Given the description of an element on the screen output the (x, y) to click on. 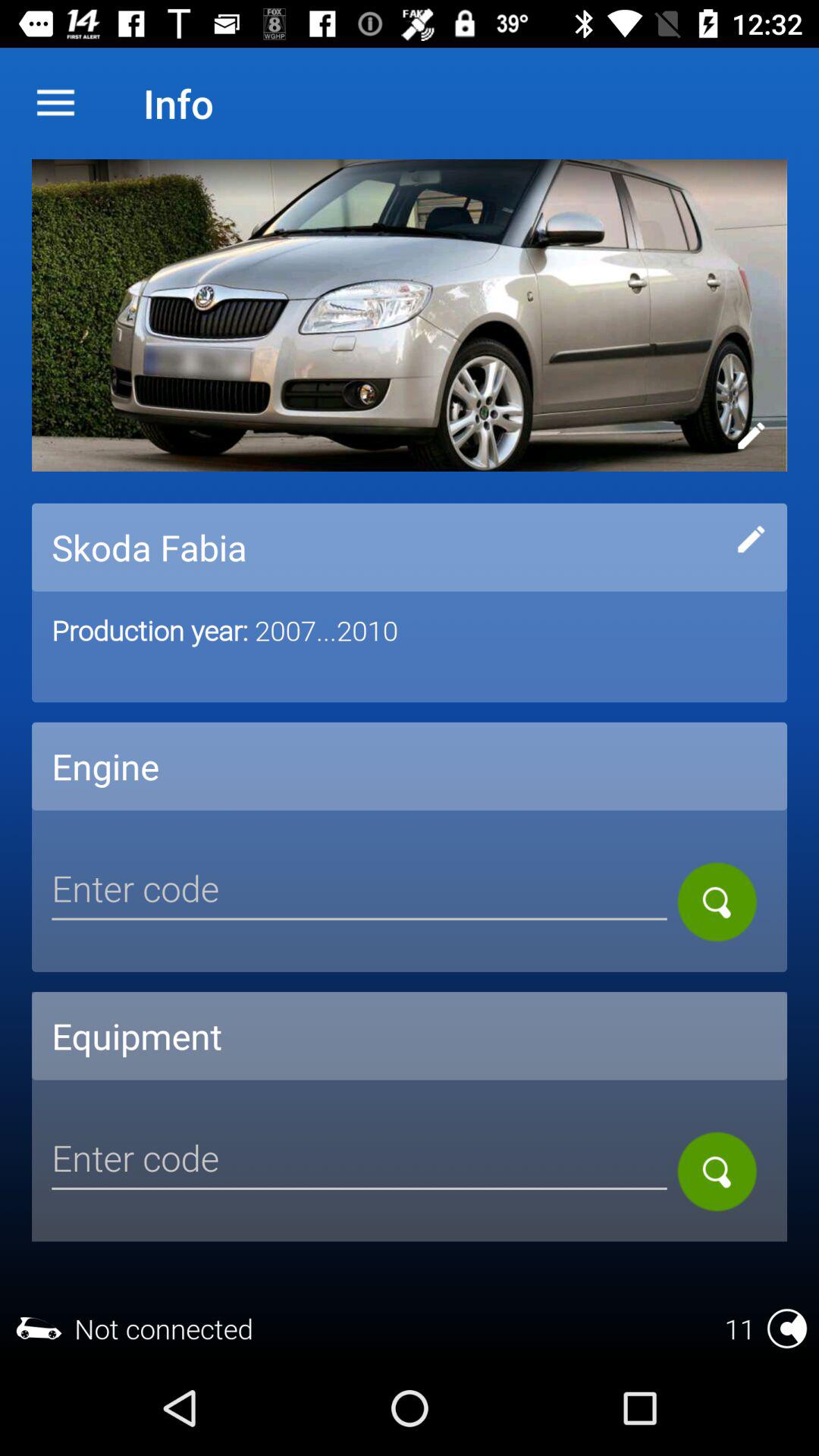
search engine code (717, 901)
